Given the description of an element on the screen output the (x, y) to click on. 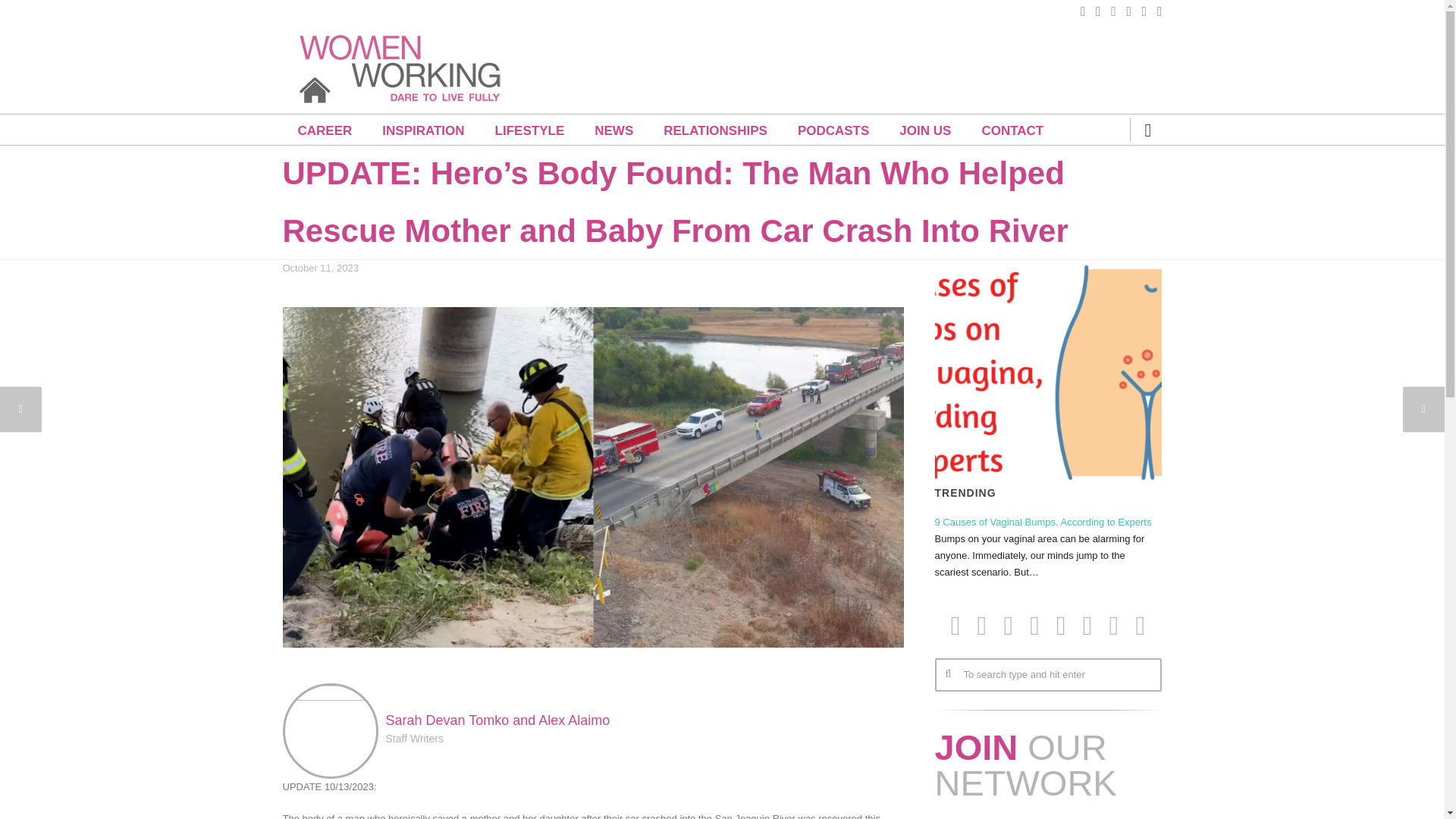
To search type and hit enter (1047, 675)
NEWS (613, 131)
LIFESTYLE (529, 131)
PODCASTS (833, 131)
CAREER (324, 131)
JOIN US (924, 131)
RELATIONSHIPS (715, 131)
CONTACT (1012, 131)
INSPIRATION (422, 131)
